Given the description of an element on the screen output the (x, y) to click on. 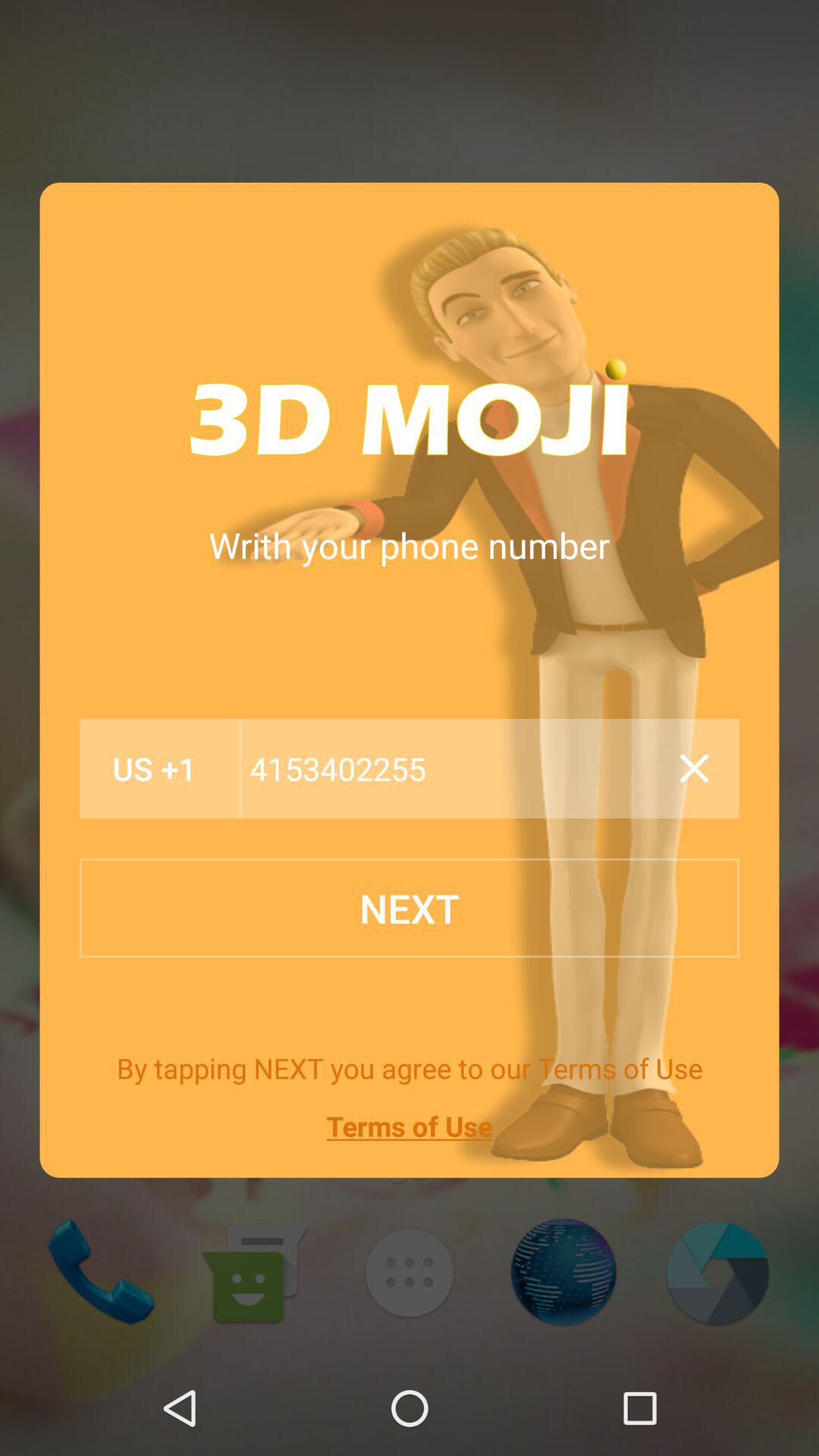
erase typing (694, 768)
